Given the description of an element on the screen output the (x, y) to click on. 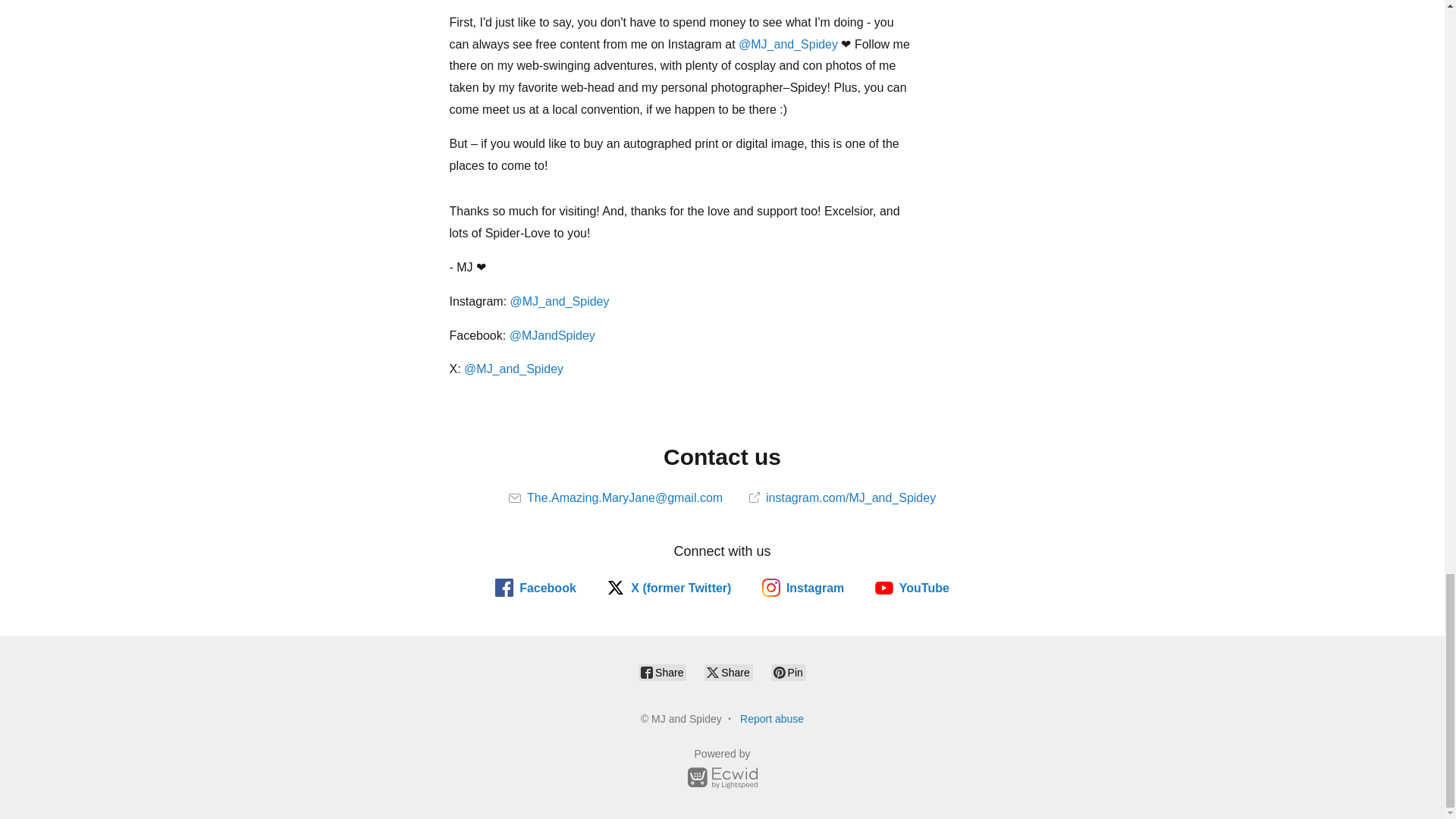
Report abuse (771, 718)
Share (662, 672)
Powered by (722, 770)
Pin (788, 672)
Facebook (535, 587)
Share (728, 672)
Instagram (802, 587)
YouTube (912, 587)
